Given the description of an element on the screen output the (x, y) to click on. 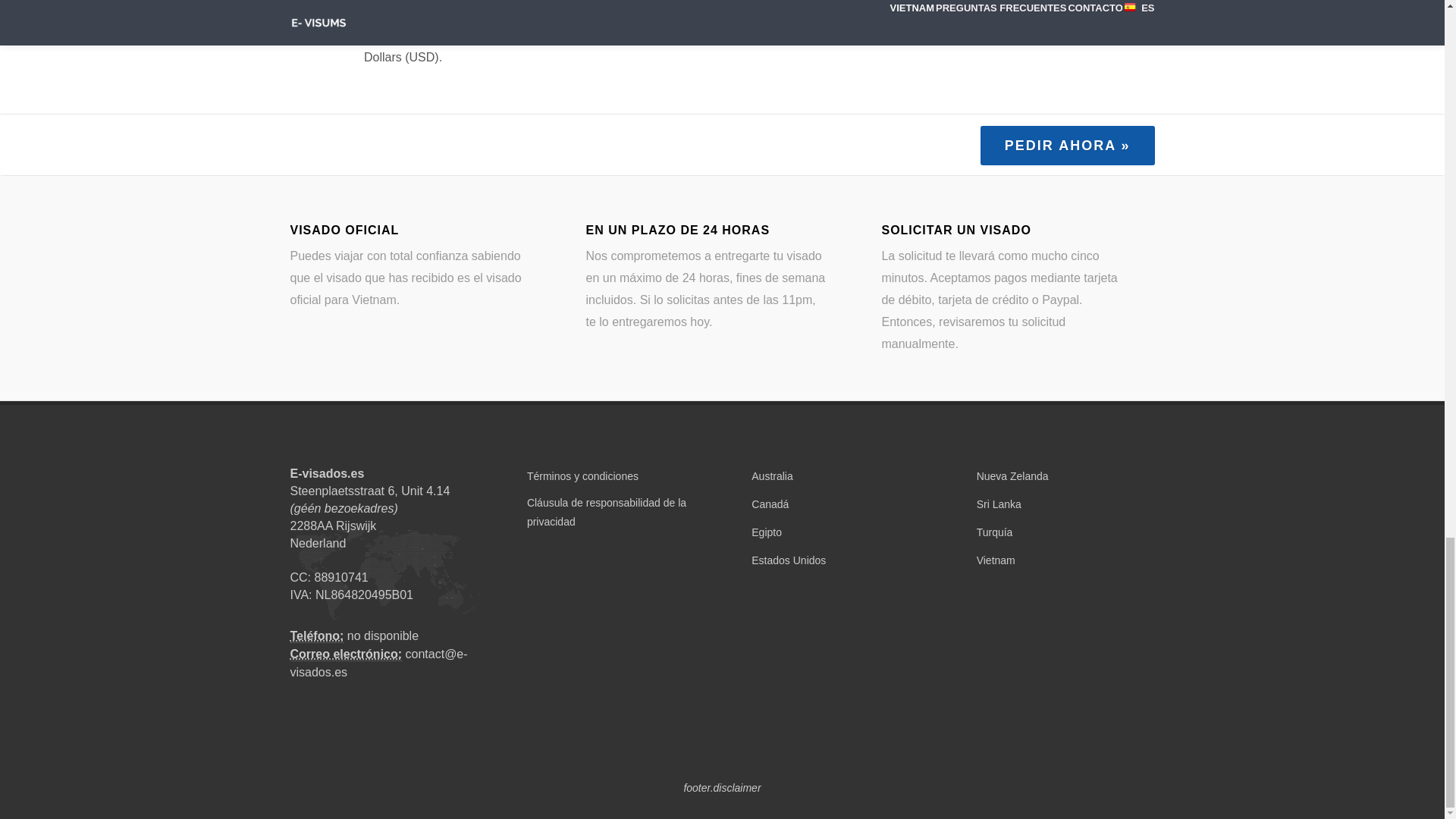
Vietnam (992, 560)
Egipto (763, 532)
Australia (768, 476)
Estados Unidos (785, 560)
Nueva Zelanda (1009, 476)
Sri Lanka (995, 504)
